Given the description of an element on the screen output the (x, y) to click on. 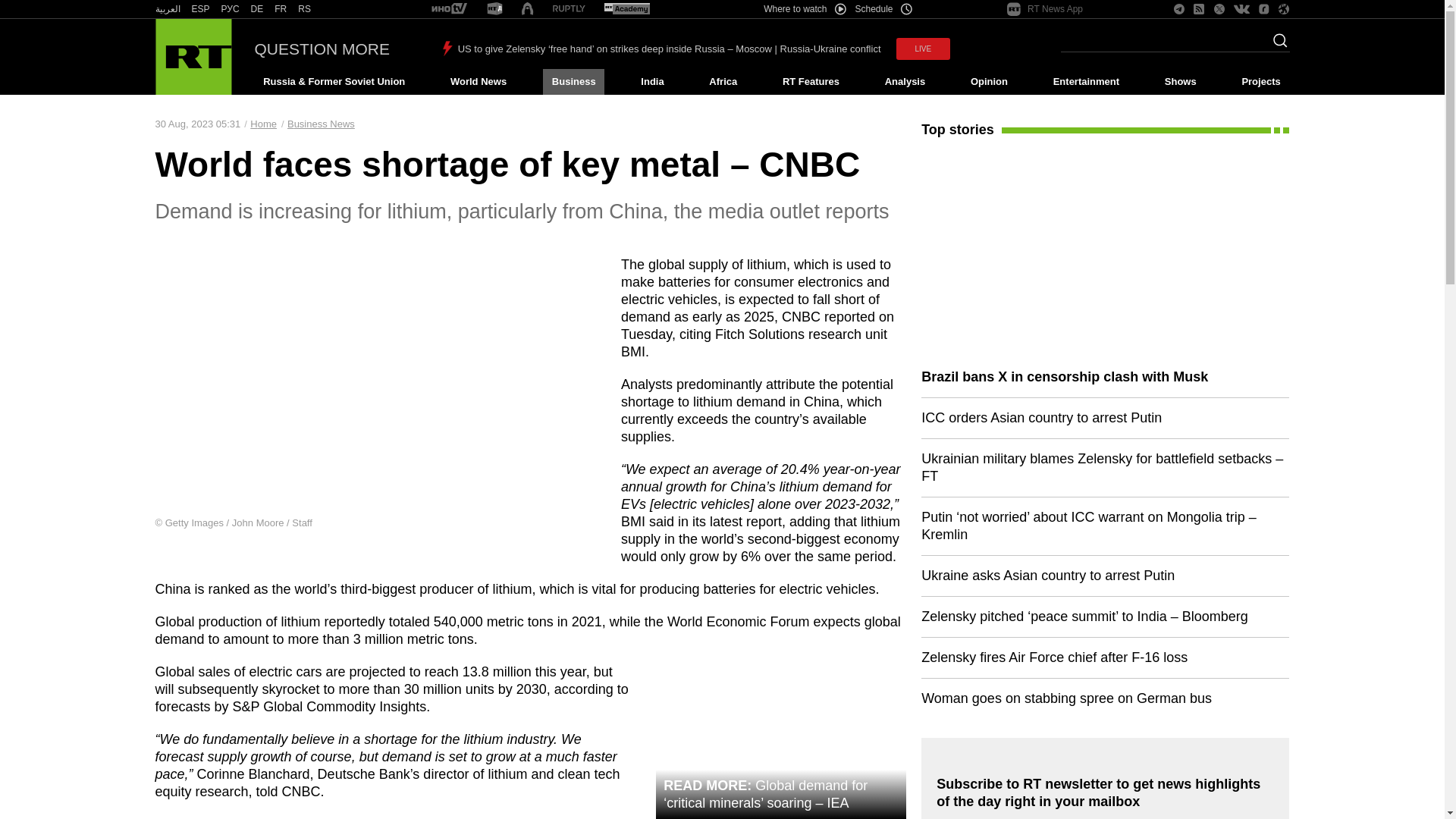
Projects (1261, 81)
LIVE (923, 48)
Schedule (884, 9)
RT News App (1045, 9)
DE (256, 9)
RT  (569, 8)
RT Features (810, 81)
Search (1276, 44)
RT  (166, 9)
RT  (199, 9)
